Given the description of an element on the screen output the (x, y) to click on. 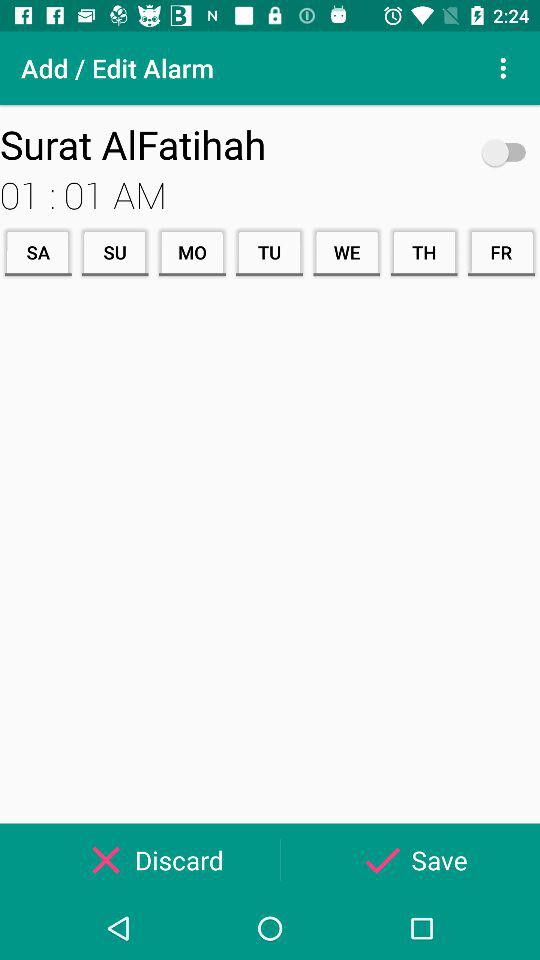
select the icon to the left of we icon (269, 251)
